Given the description of an element on the screen output the (x, y) to click on. 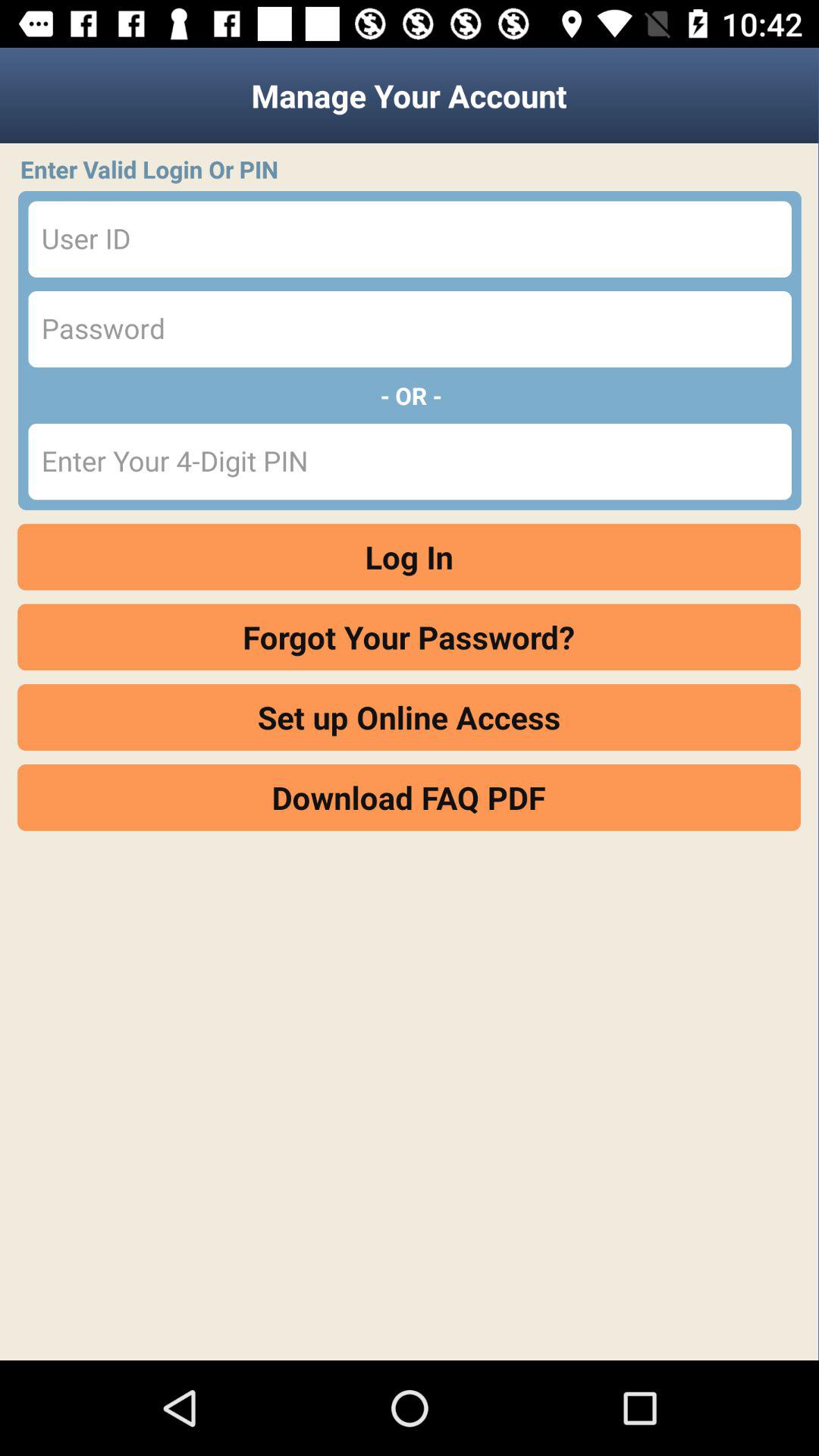
turn on item above the download faq pdf icon (408, 717)
